Given the description of an element on the screen output the (x, y) to click on. 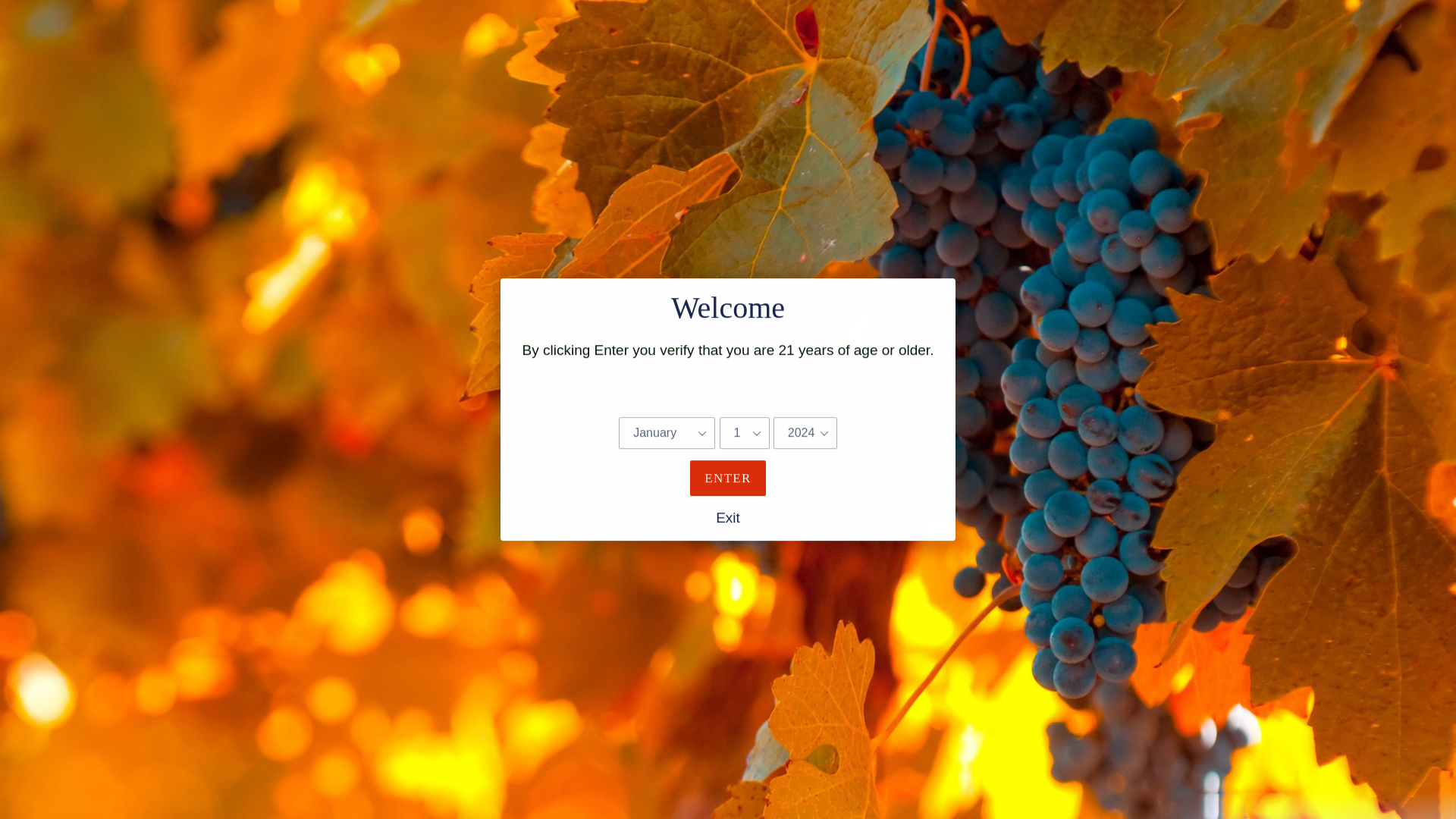
ADD TO CART (966, 25)
Exit (727, 186)
ENTER (727, 141)
1 (776, 26)
